Given the description of an element on the screen output the (x, y) to click on. 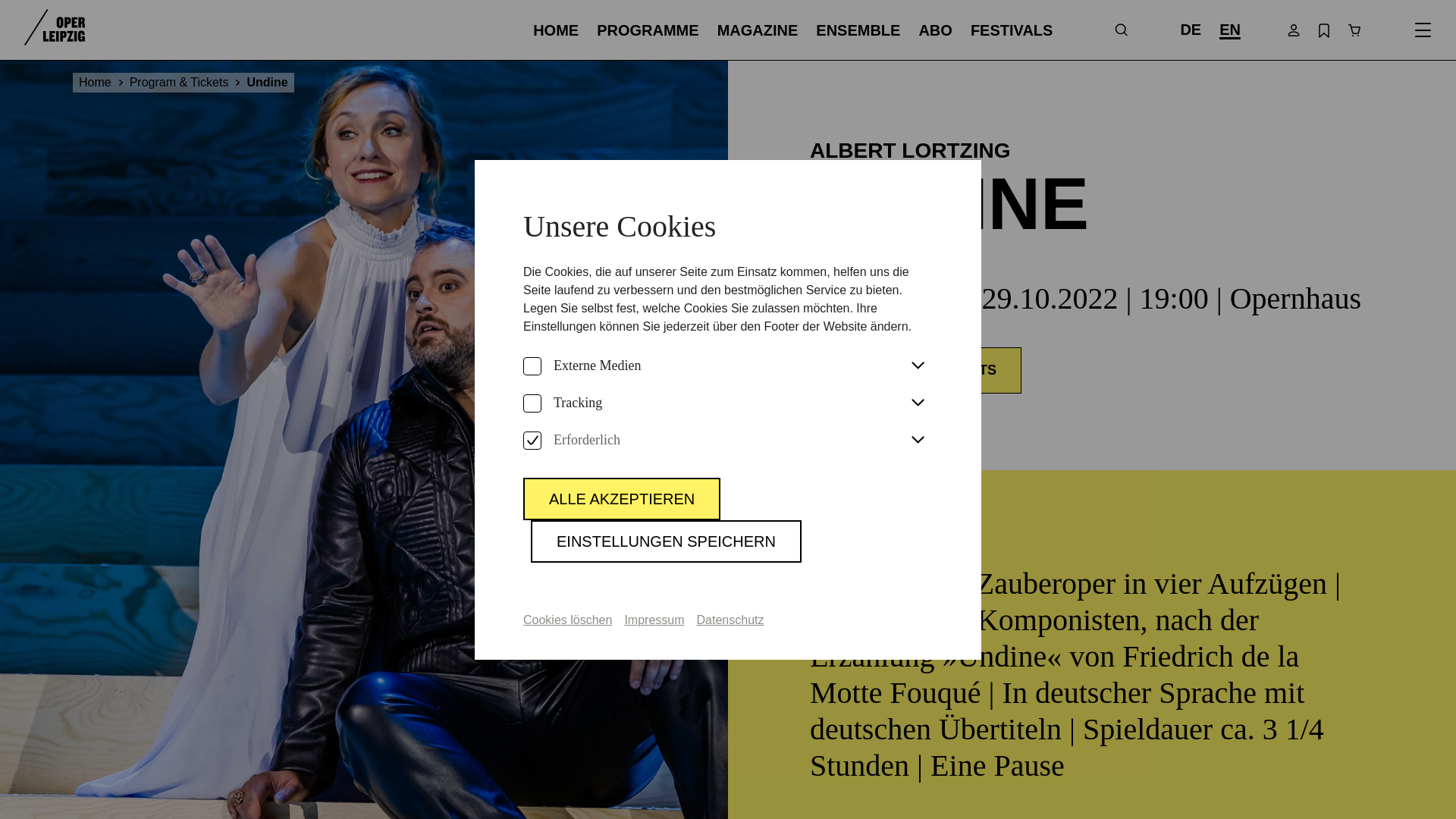
Home (103, 82)
Homepage (54, 29)
Impressum (654, 618)
black magnifying glass (1121, 29)
ALLE AKZEPTIEREN (621, 498)
ABO (935, 30)
Tracking (531, 403)
Show Tracking options (917, 403)
English (1230, 29)
Undine (266, 82)
black magnifying glass (1120, 30)
ENSEMBLE (857, 30)
Erforderlich (531, 439)
EN (1230, 29)
EINSTELLUNGEN SPEICHERN (666, 541)
